Given the description of an element on the screen output the (x, y) to click on. 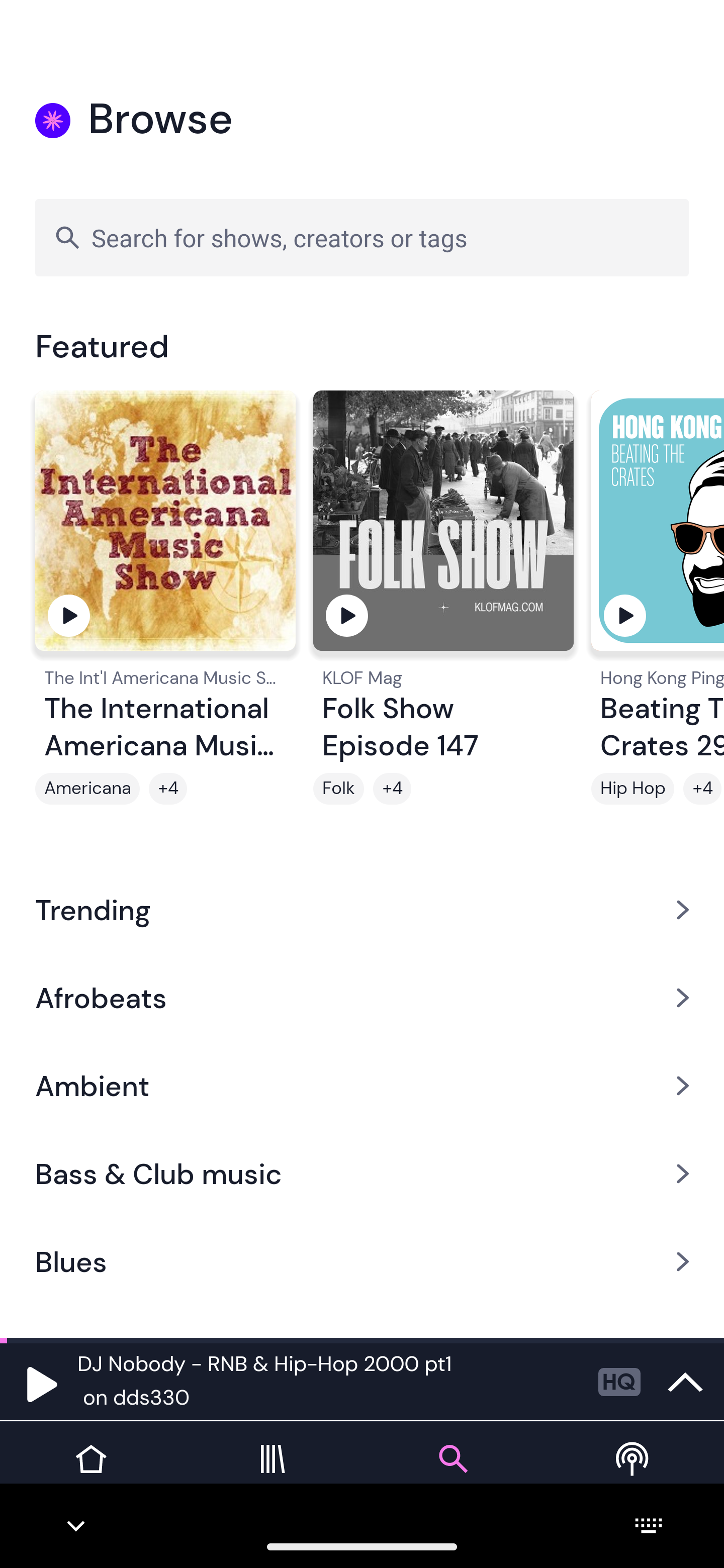
Search for shows, creators or tags (361, 237)
Americana (87, 788)
Folk (338, 788)
Hip Hop (632, 788)
Trending (361, 909)
Afrobeats (361, 997)
Ambient (361, 1085)
Bass & Club music (361, 1174)
Blues (361, 1262)
Home tab (90, 1473)
Library tab (271, 1473)
Browse tab (452, 1473)
Live tab (633, 1473)
